Given the description of an element on the screen output the (x, y) to click on. 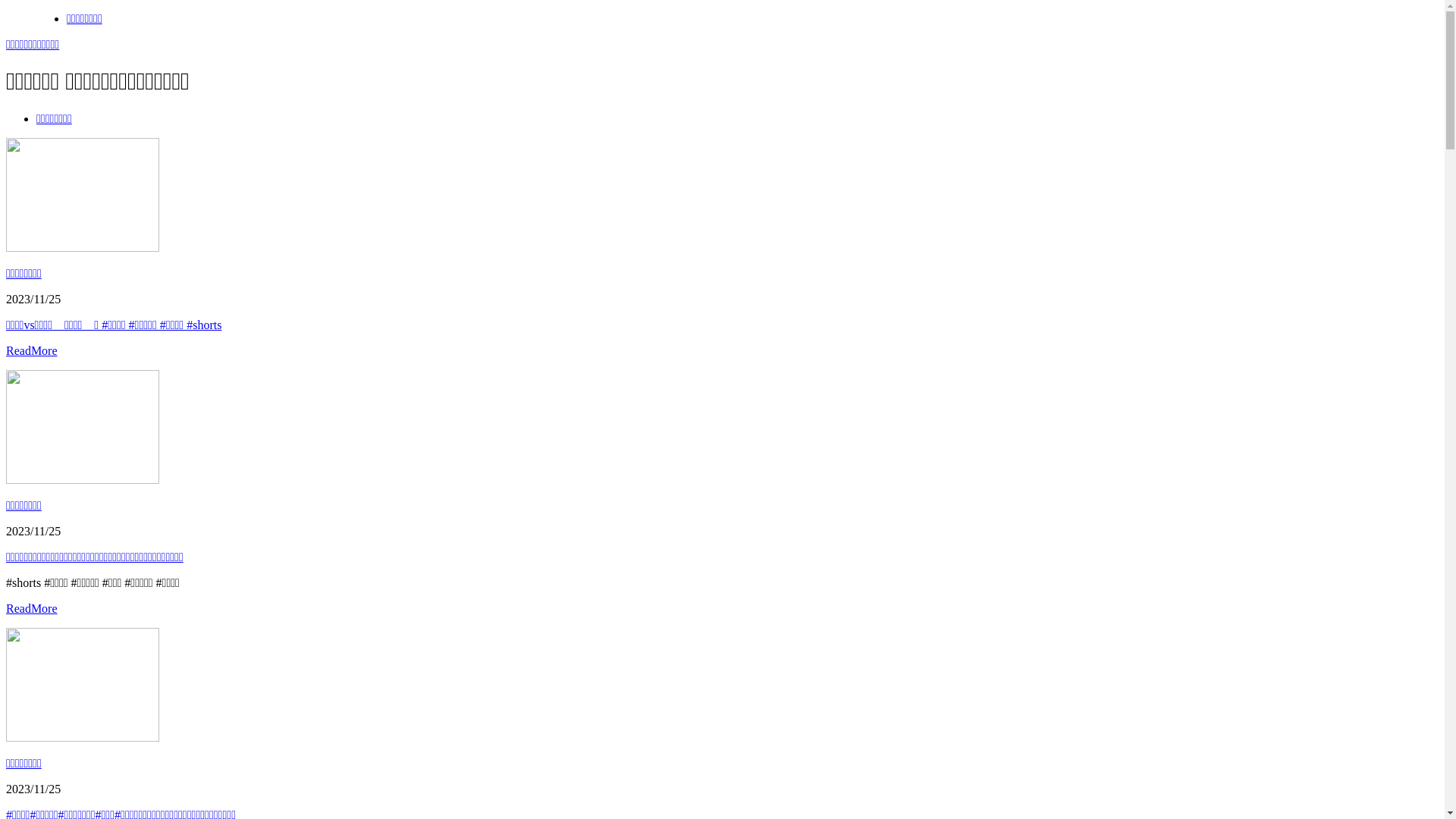
ReadMore Element type: text (31, 350)
ReadMore Element type: text (31, 608)
